Given the description of an element on the screen output the (x, y) to click on. 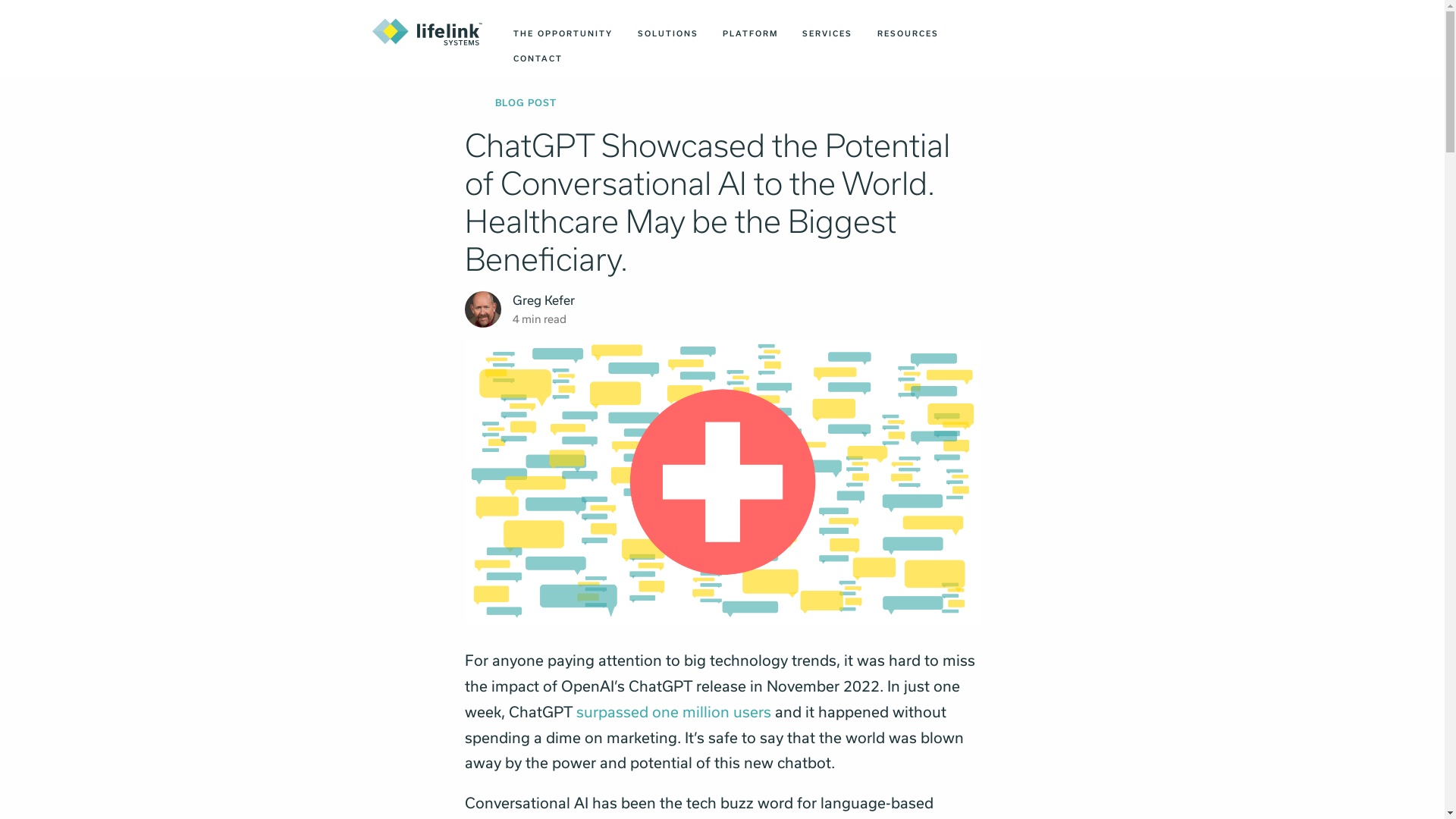
SOLUTIONS (668, 33)
PLATFORM (750, 33)
SERVICES (827, 33)
RESOURCES (907, 33)
surpassed one million users (673, 711)
THE OPPORTUNITY (562, 33)
CONTACT (537, 57)
